Given the description of an element on the screen output the (x, y) to click on. 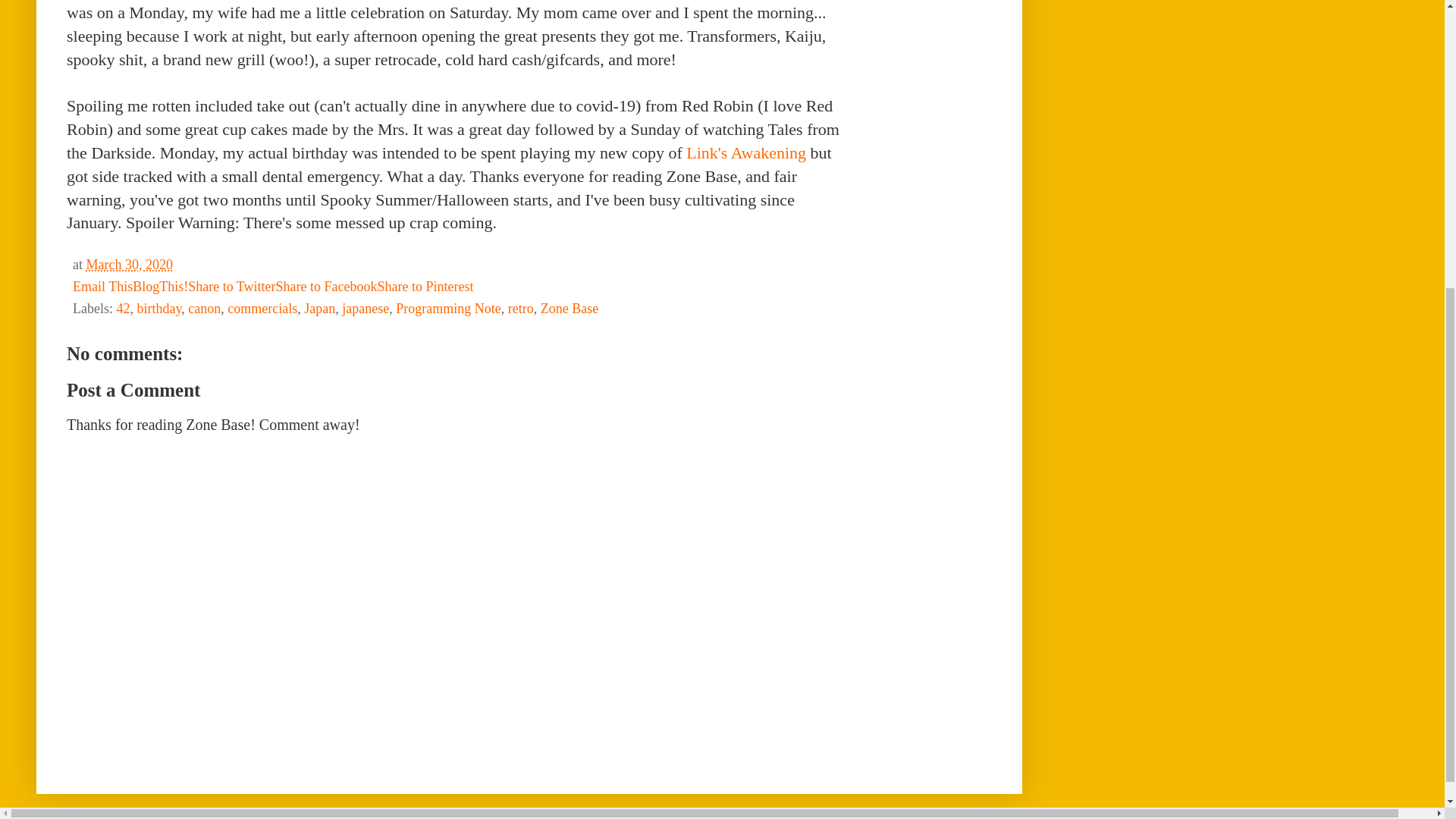
japanese (365, 308)
Share to Pinterest (425, 286)
Share to Twitter (231, 286)
Share to Facebook (326, 286)
canon (204, 308)
Link's Awakening (744, 152)
Share to Pinterest (425, 286)
Share to Facebook (326, 286)
BlogThis! (159, 286)
permanent link (129, 264)
